Given the description of an element on the screen output the (x, y) to click on. 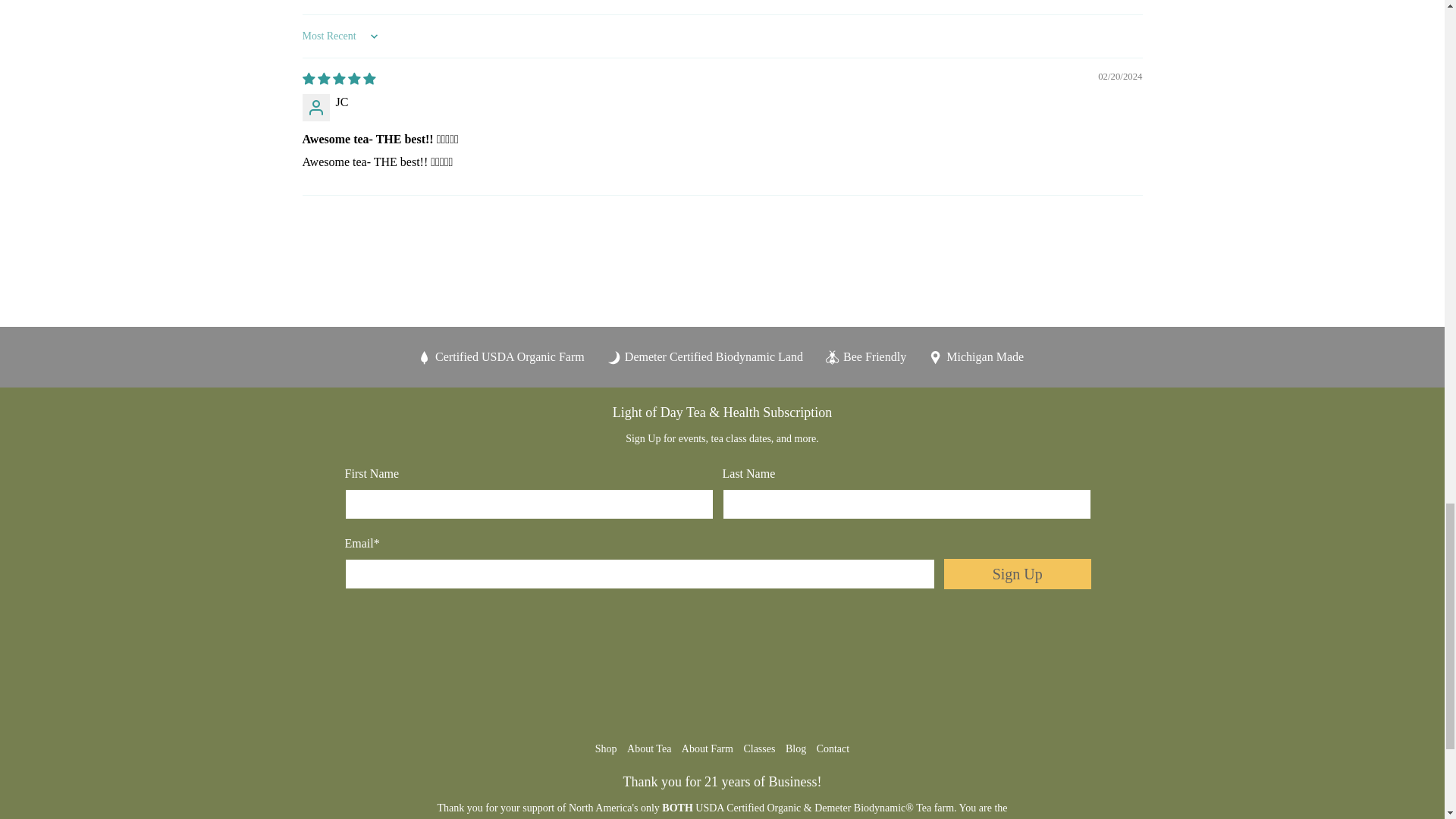
Light of Day Organics (721, 671)
